Given the description of an element on the screen output the (x, y) to click on. 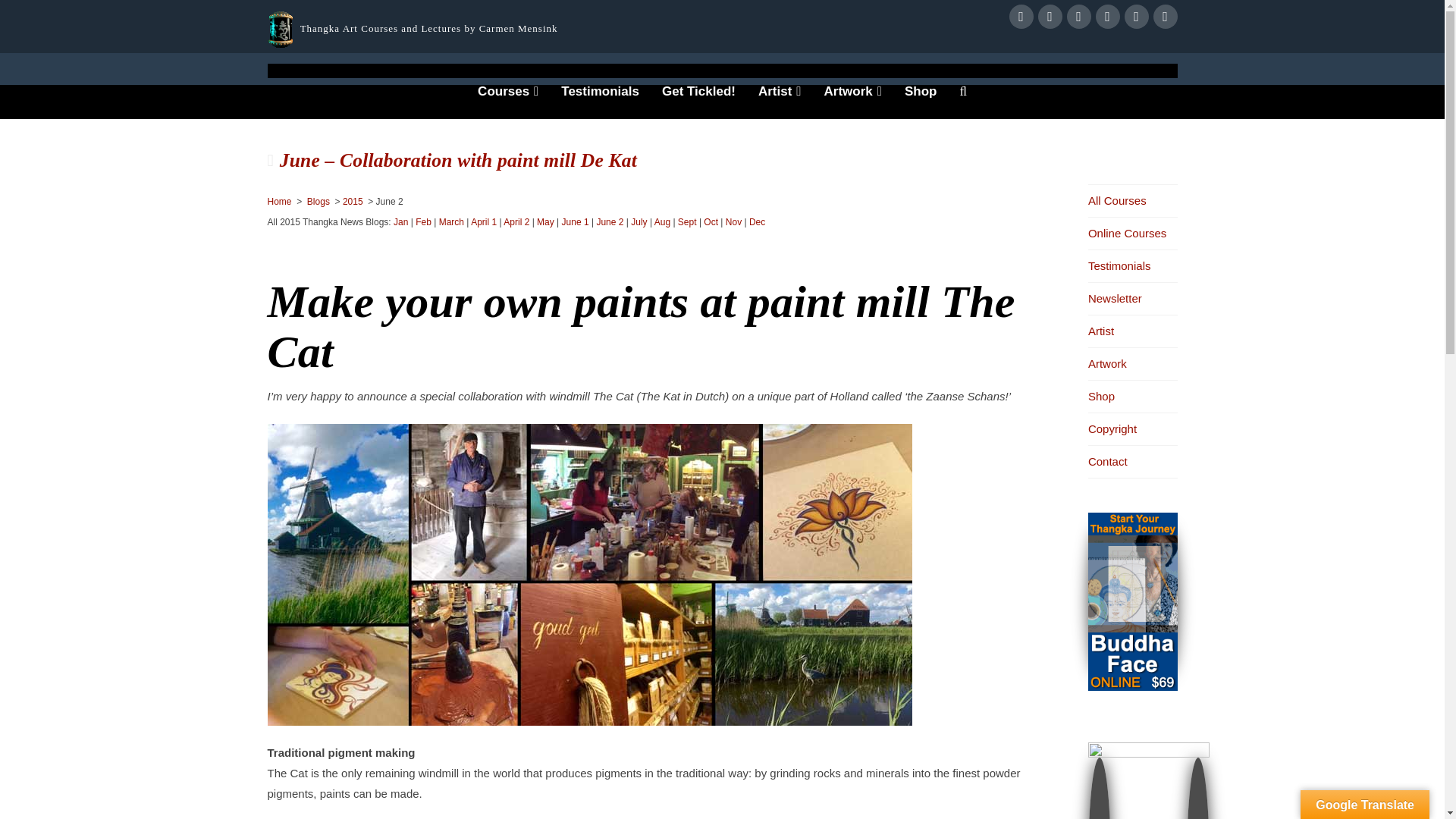
YouTube (1106, 16)
Twitter (1048, 16)
Testimonials (600, 101)
Instagram (1136, 16)
Facebook (1020, 16)
Get Tickled! (698, 101)
Pinterest (1164, 16)
Thangka Art Courses and Lectures by Carmen Mensink (428, 28)
LinkedIn (1077, 16)
Artist (779, 101)
Courses (507, 101)
